Given the description of an element on the screen output the (x, y) to click on. 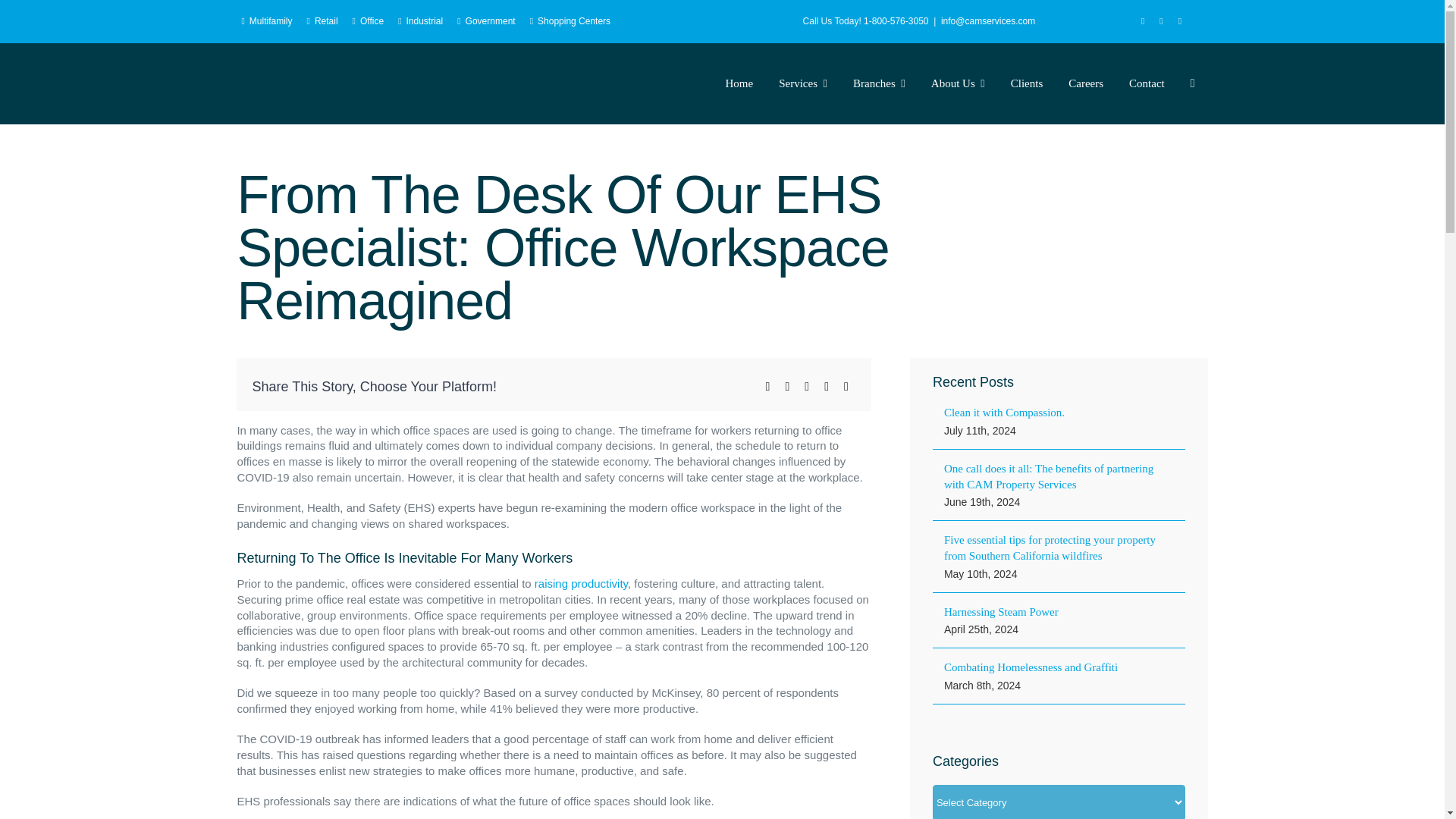
Retail (324, 21)
Branches (879, 83)
Government (488, 21)
Shopping Centers (572, 21)
1-800-576-3050 (895, 20)
Industrial (422, 21)
Multifamily (268, 21)
Home (740, 83)
Office (370, 21)
Services (802, 83)
